Given the description of an element on the screen output the (x, y) to click on. 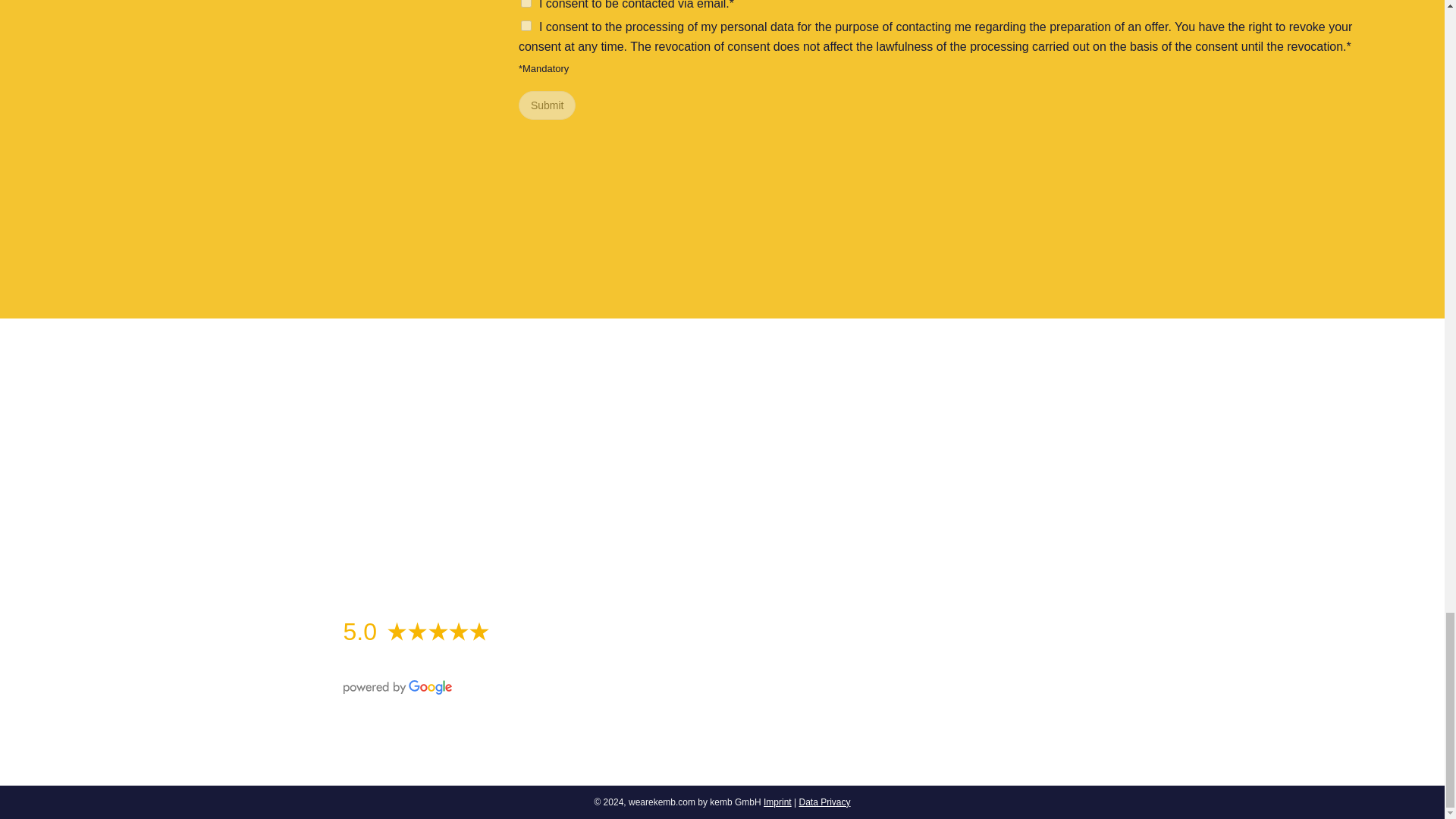
Powered by Google (396, 687)
